Given the description of an element on the screen output the (x, y) to click on. 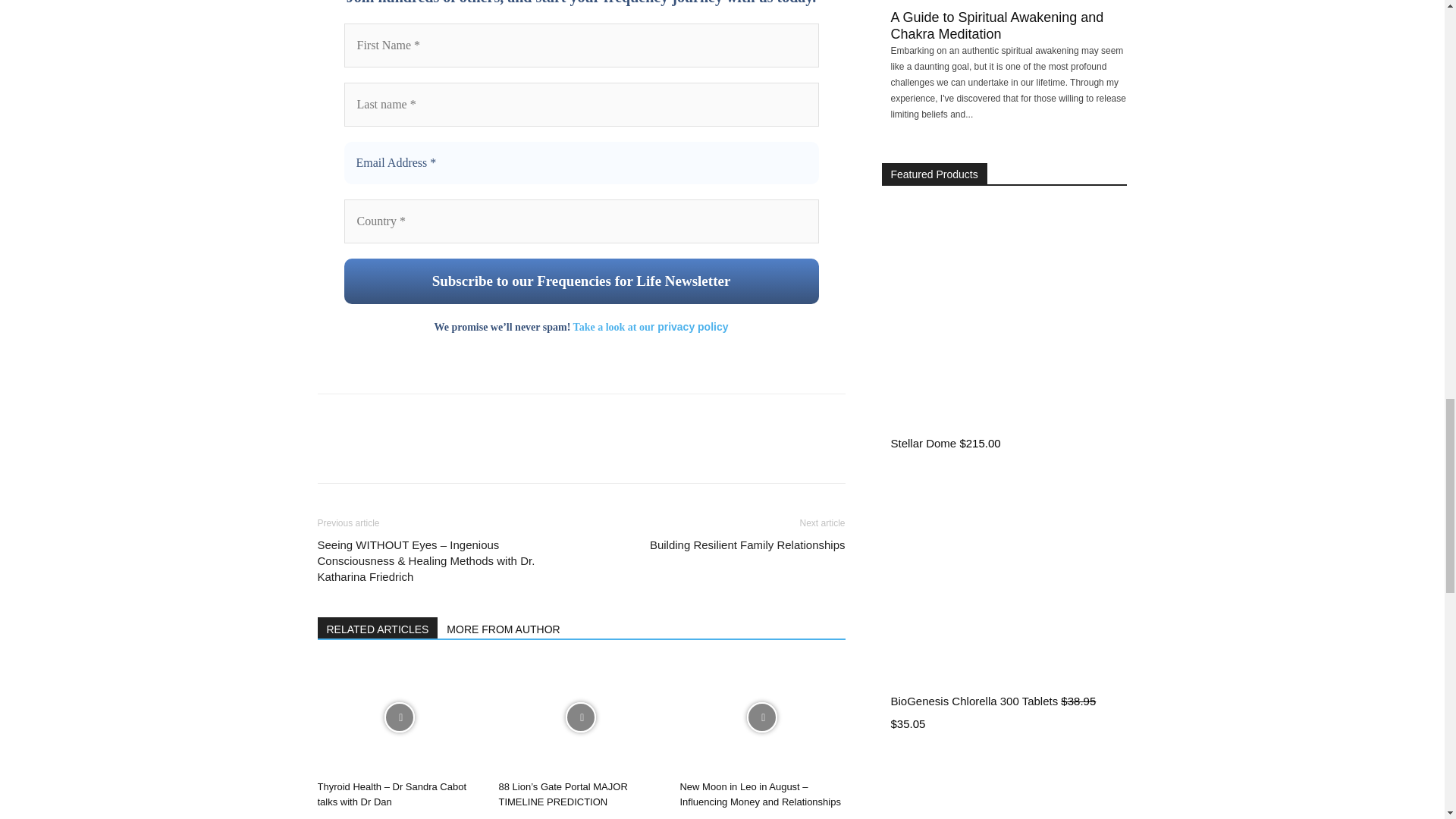
Subscribe to our Frequencies for Life Newsletter (580, 281)
